Given the description of an element on the screen output the (x, y) to click on. 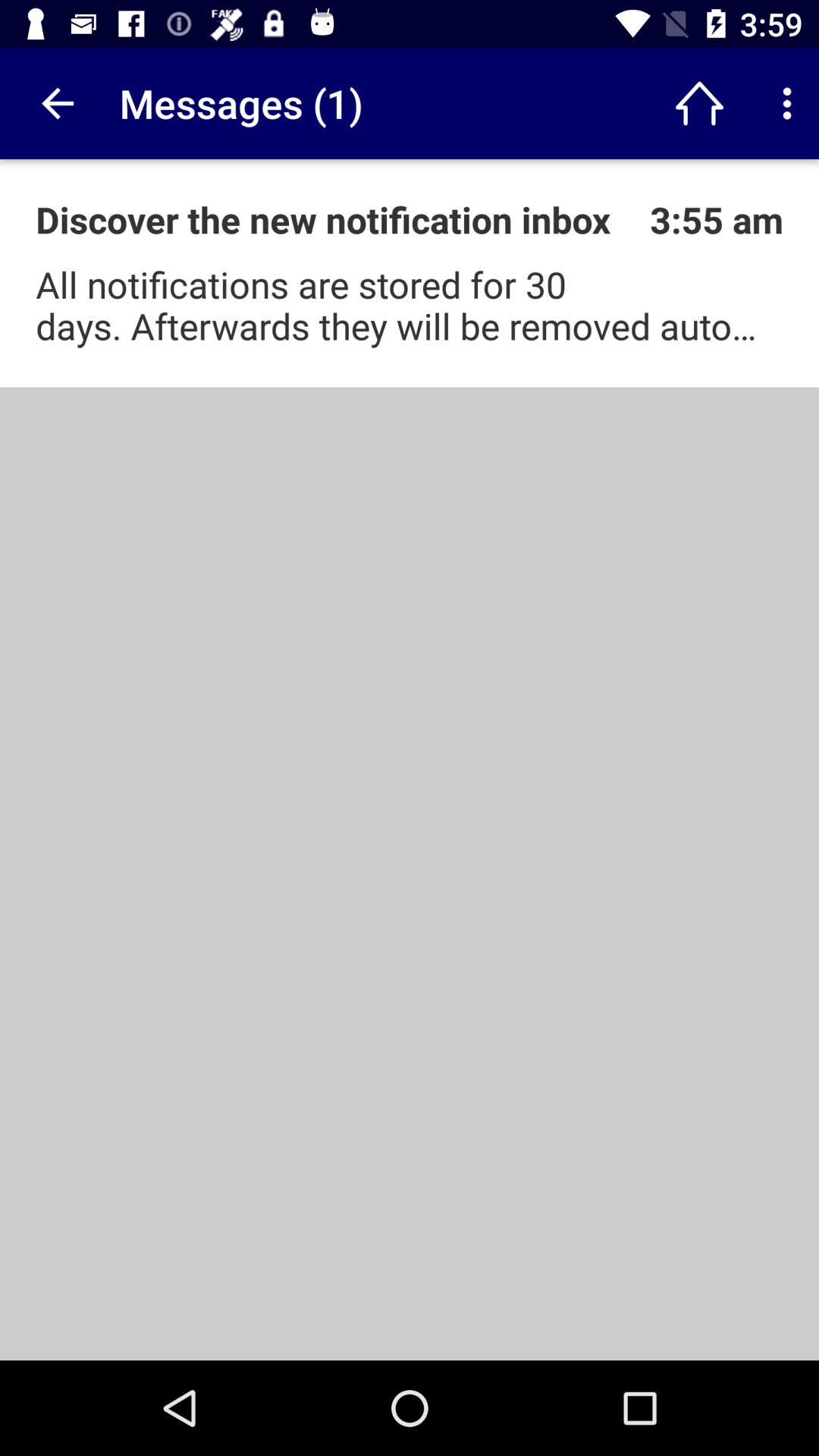
more options (787, 103)
